Given the description of an element on the screen output the (x, y) to click on. 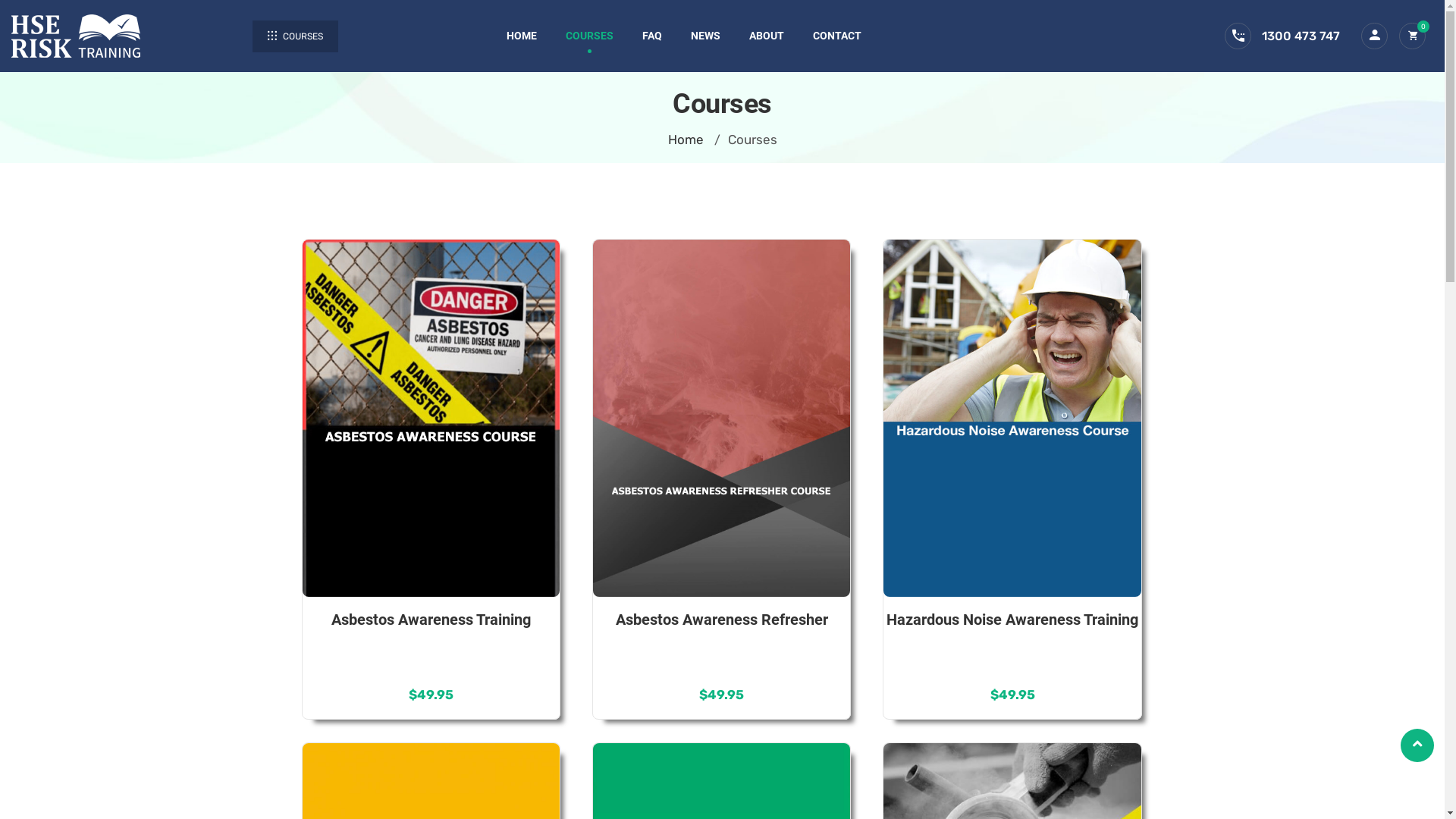
Hazardous Noise Awareness Training
$49.95 Element type: text (1011, 471)
Asbestos Awareness Refresher
$49.95 Element type: text (721, 471)
NEWS Element type: text (705, 36)
COURSES Element type: text (589, 36)
CONTACT Element type: text (836, 36)
1300 473 747 Element type: text (1300, 35)
Asbestos Awareness Training
$49.95 Element type: text (429, 471)
0 Element type: text (1412, 35)
FAQ Element type: text (652, 36)
ABOUT Element type: text (766, 36)
Home Element type: text (684, 139)
HOME Element type: text (521, 36)
